Given the description of an element on the screen output the (x, y) to click on. 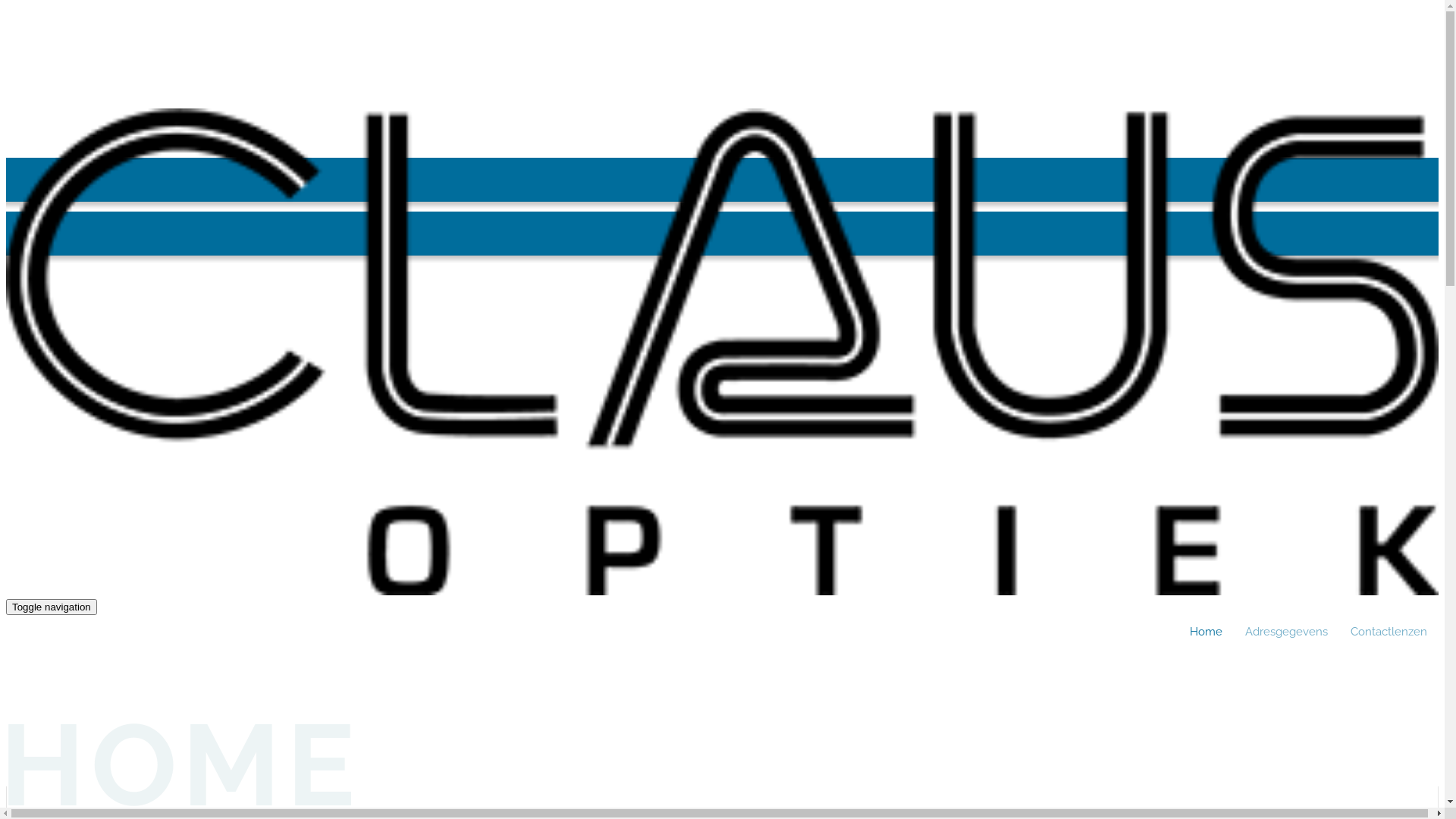
Glazen Element type: text (67, 731)
Contactlenzen Element type: text (1388, 631)
Skip to main content Element type: text (6, 108)
Contact Element type: text (69, 779)
Informatie Element type: text (75, 755)
Zonnebrillen Element type: text (82, 708)
Kinderbrillen Element type: text (82, 683)
Home Element type: hover (727, 591)
Home Element type: text (1205, 631)
Toggle navigation Element type: text (51, 607)
Adresgegevens Element type: text (1286, 631)
Brillen Element type: text (65, 659)
